Given the description of an element on the screen output the (x, y) to click on. 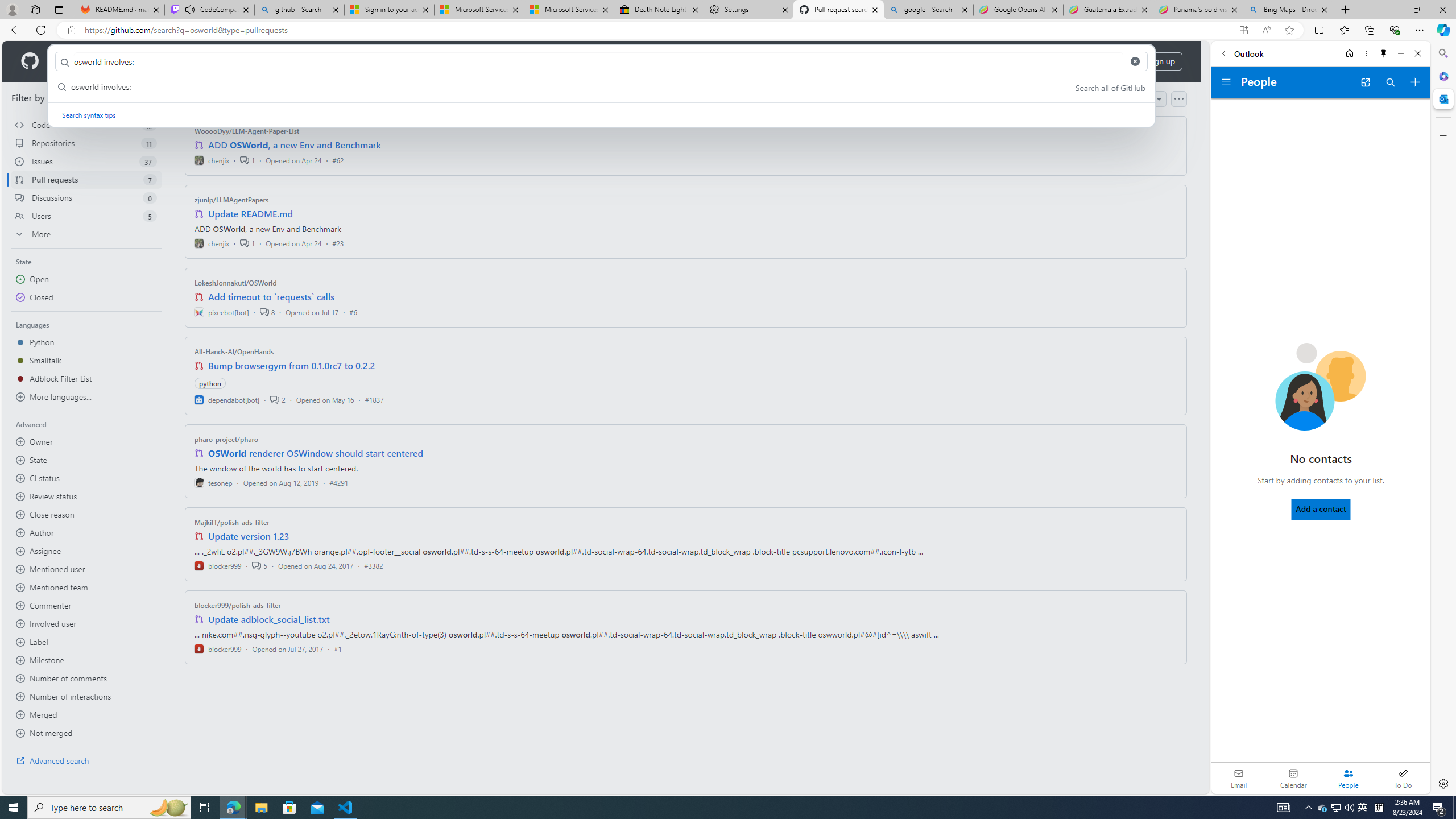
dependabot[bot] (227, 398)
#3382 (373, 565)
#1837 (374, 398)
blocker999/polish-ads-filter (238, 605)
Open Source (254, 60)
